Given the description of an element on the screen output the (x, y) to click on. 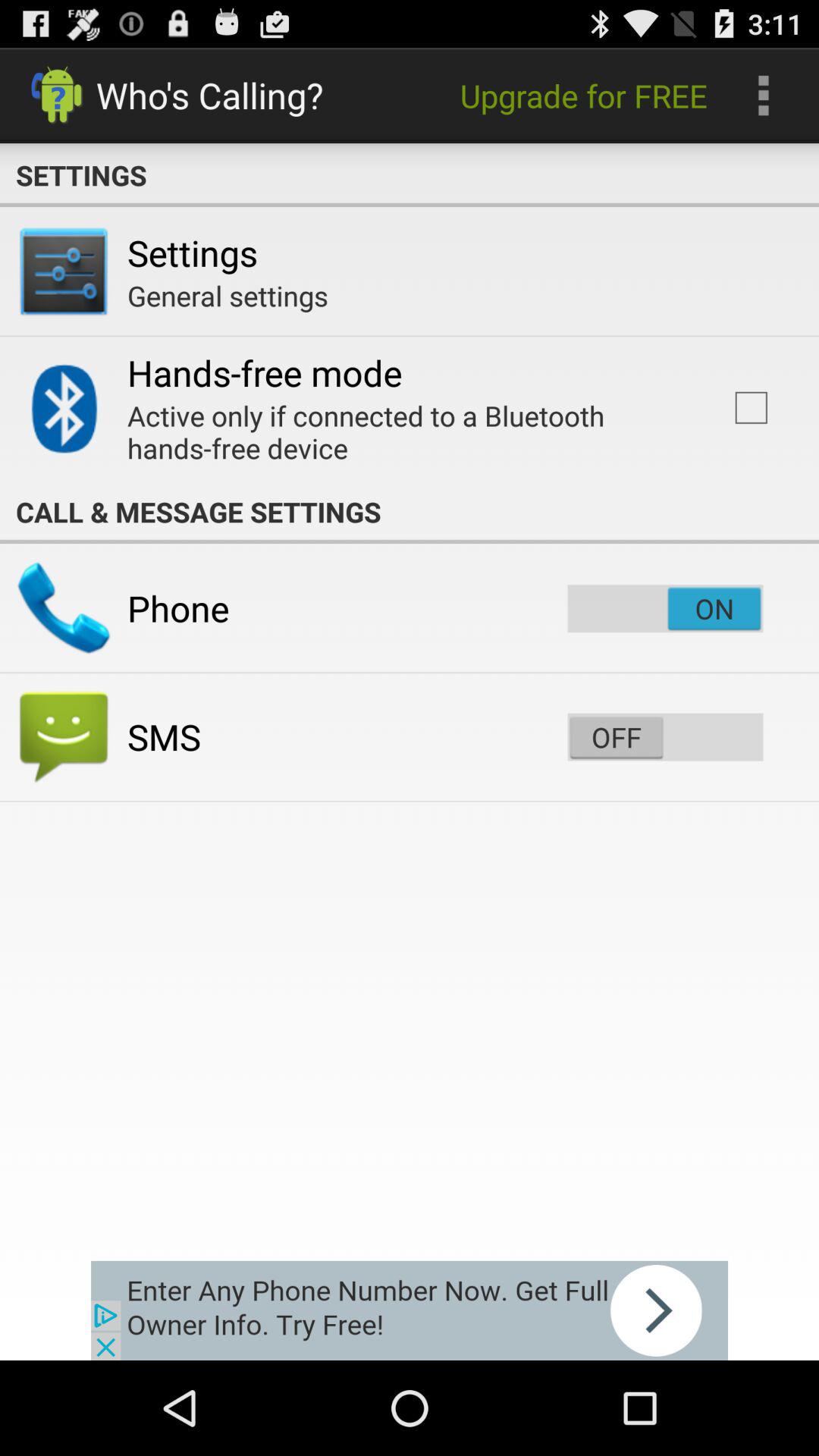
adverisement (409, 1310)
